Given the description of an element on the screen output the (x, y) to click on. 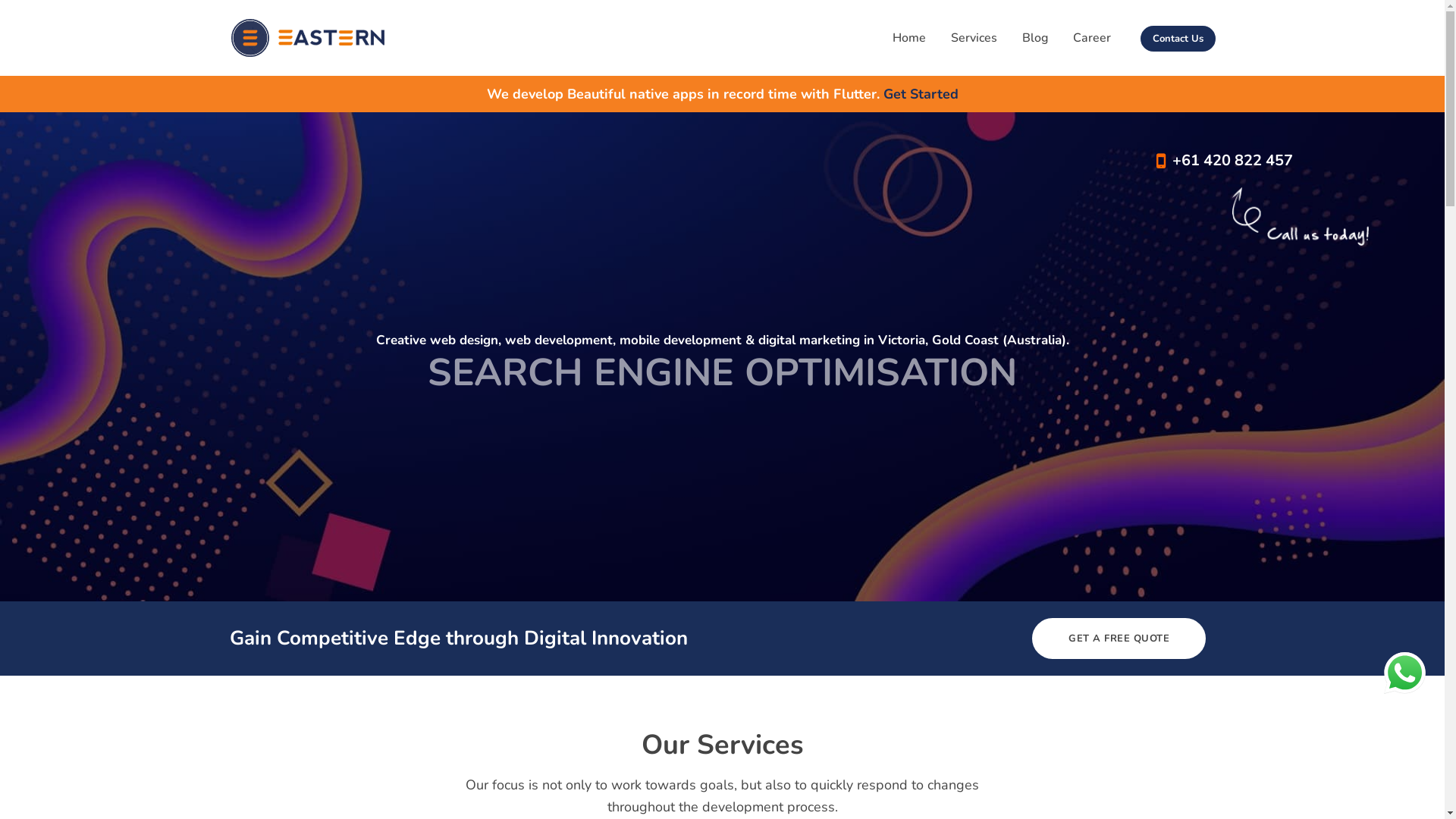
Contact Us Element type: text (1177, 38)
Eastern Techno Solutions Element type: hover (306, 37)
WhatsApp us Element type: hover (1404, 672)
GET A FREE QUOTE Element type: text (1118, 638)
Career Element type: text (1090, 37)
Easternts Element type: hover (722, 356)
Get Started Element type: text (919, 93)
Blog Element type: text (1034, 37)
Home Element type: text (908, 37)
+61 420 822 457 Element type: text (1224, 160)
Services Element type: text (973, 37)
Easternts Element type: hover (1300, 216)
